Given the description of an element on the screen output the (x, y) to click on. 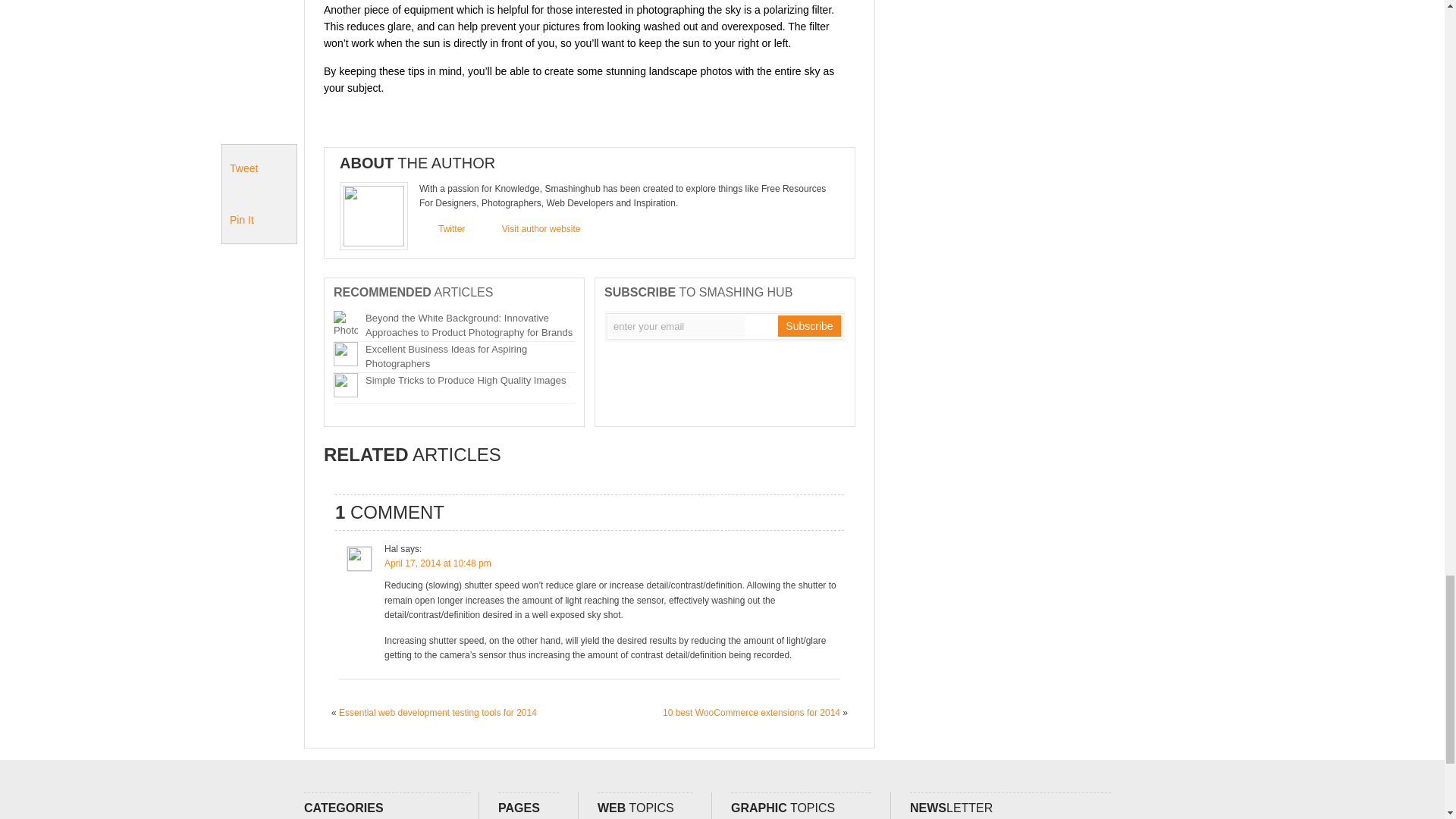
Enter your email (676, 326)
Excellent Business Ideas for Aspiring Photographers (446, 356)
Subscribe (808, 325)
Simple Tricks to Produce High Quality Images (465, 379)
